Given the description of an element on the screen output the (x, y) to click on. 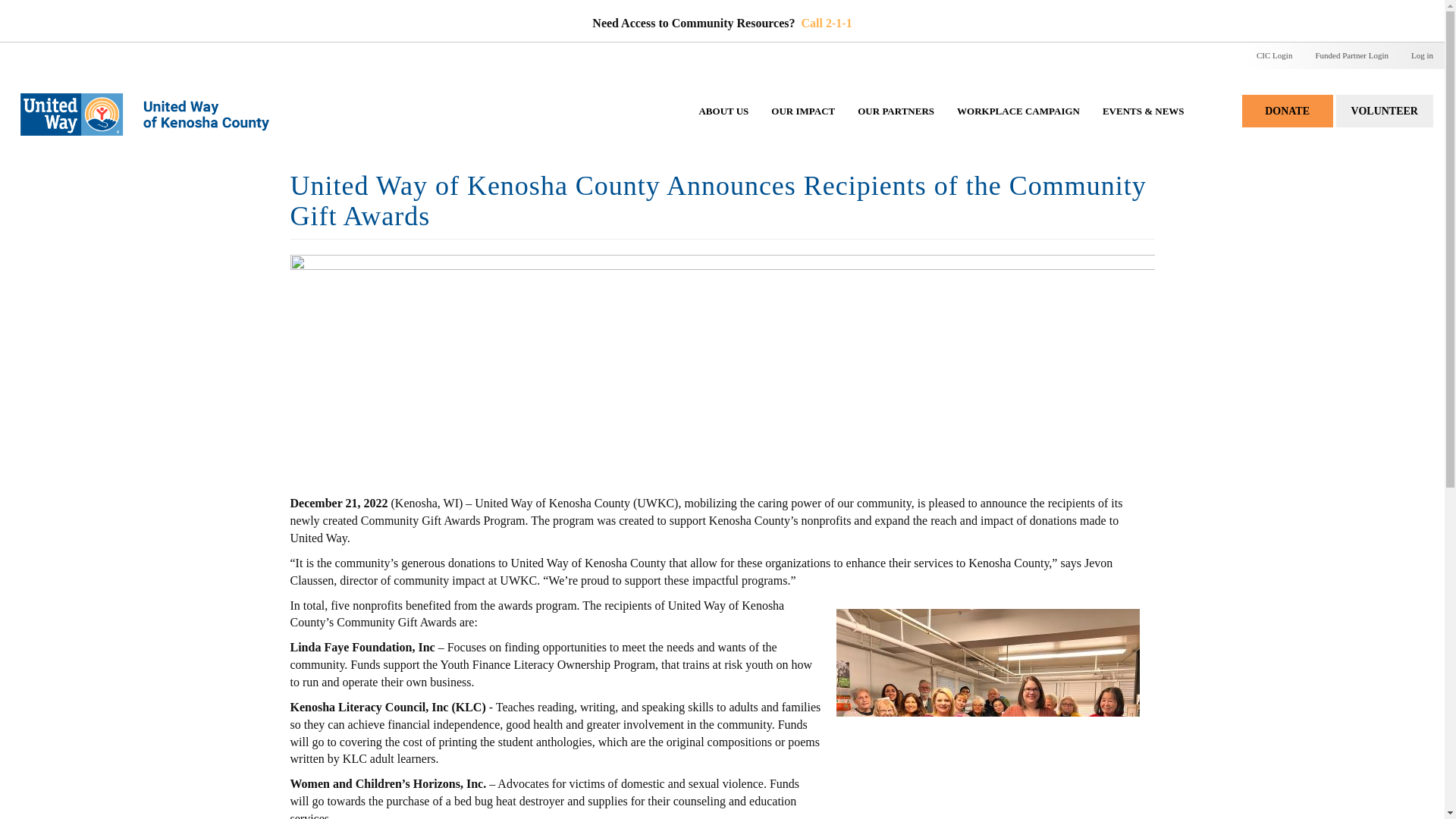
OUR IMPACT (802, 126)
Who We Are- Our Mission, Vision, Brand (723, 126)
DONATE (1287, 111)
VOLUNTEER (1384, 111)
211 online search (826, 22)
Volunteer (1384, 111)
ABOUT US (723, 126)
Call 2-1-1 (826, 22)
CIC Login (1273, 55)
